Given the description of an element on the screen output the (x, y) to click on. 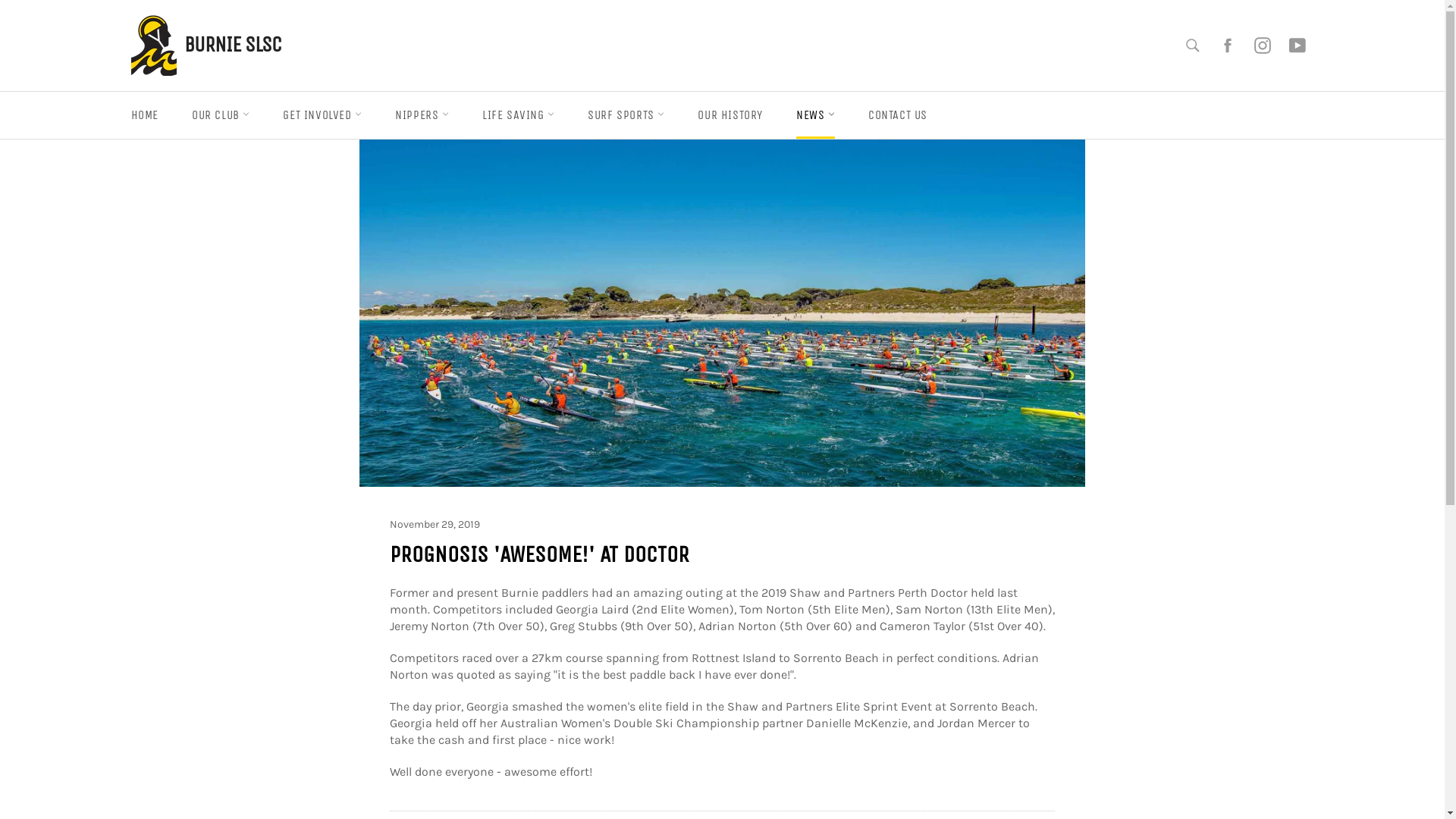
CONTACT US Element type: text (897, 114)
OUR CLUB Element type: text (220, 114)
HOME Element type: text (143, 114)
Search Element type: text (1192, 45)
GET INVOLVED Element type: text (321, 114)
OUR HISTORY Element type: text (730, 114)
LIFE SAVING Element type: text (518, 114)
NIPPERS Element type: text (421, 114)
SURF SPORTS Element type: text (625, 114)
NEWS Element type: text (815, 114)
